Given the description of an element on the screen output the (x, y) to click on. 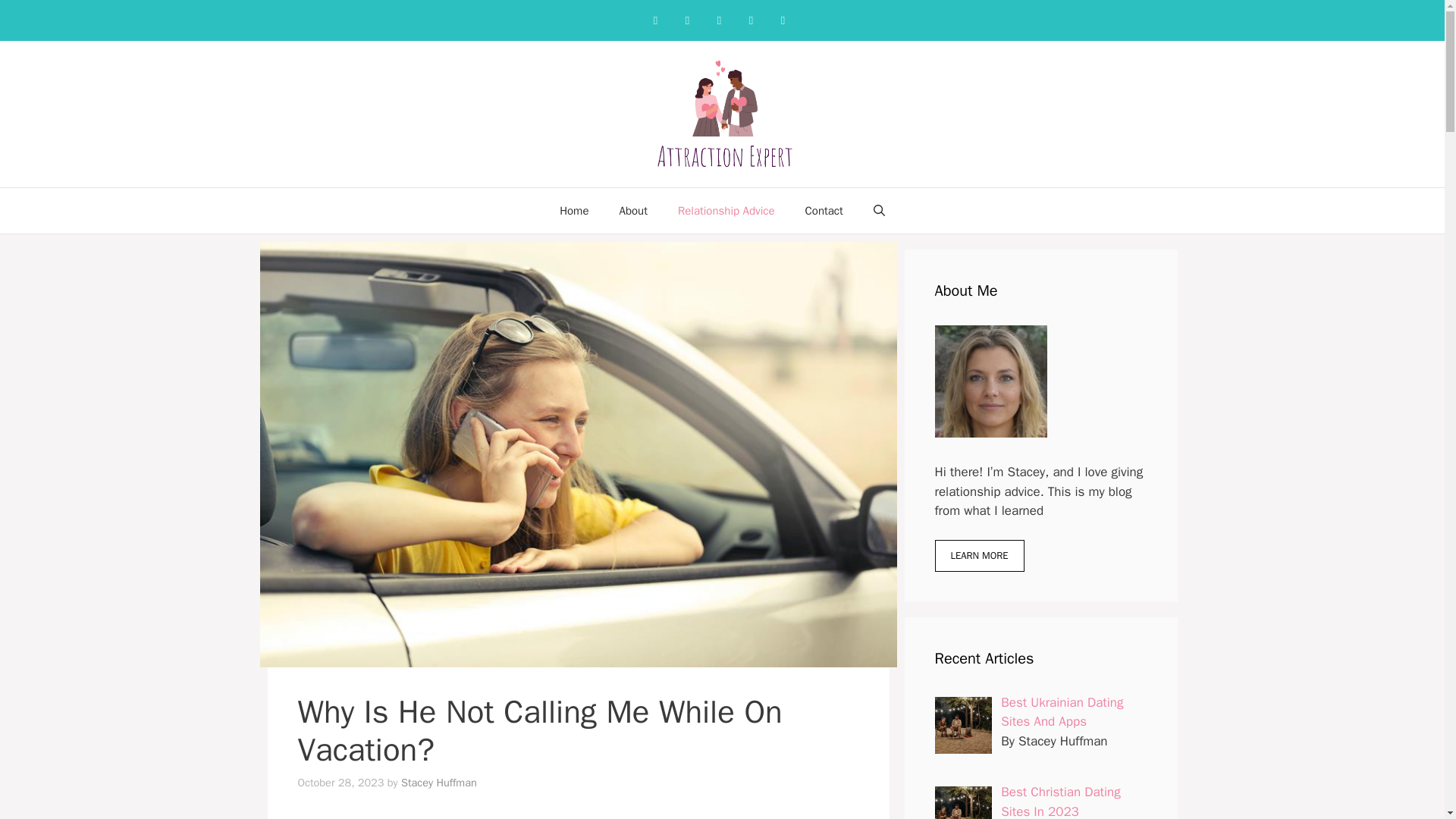
Facebook (655, 20)
Contact (824, 210)
LEARN MORE (978, 555)
View all posts by Stacey Huffman (439, 782)
Best Christian Dating Sites In 2023 (1061, 801)
Twitter (751, 20)
About (633, 210)
Stacey Huffman (439, 782)
Relationship Advice (726, 210)
Pinterest (719, 20)
